Given the description of an element on the screen output the (x, y) to click on. 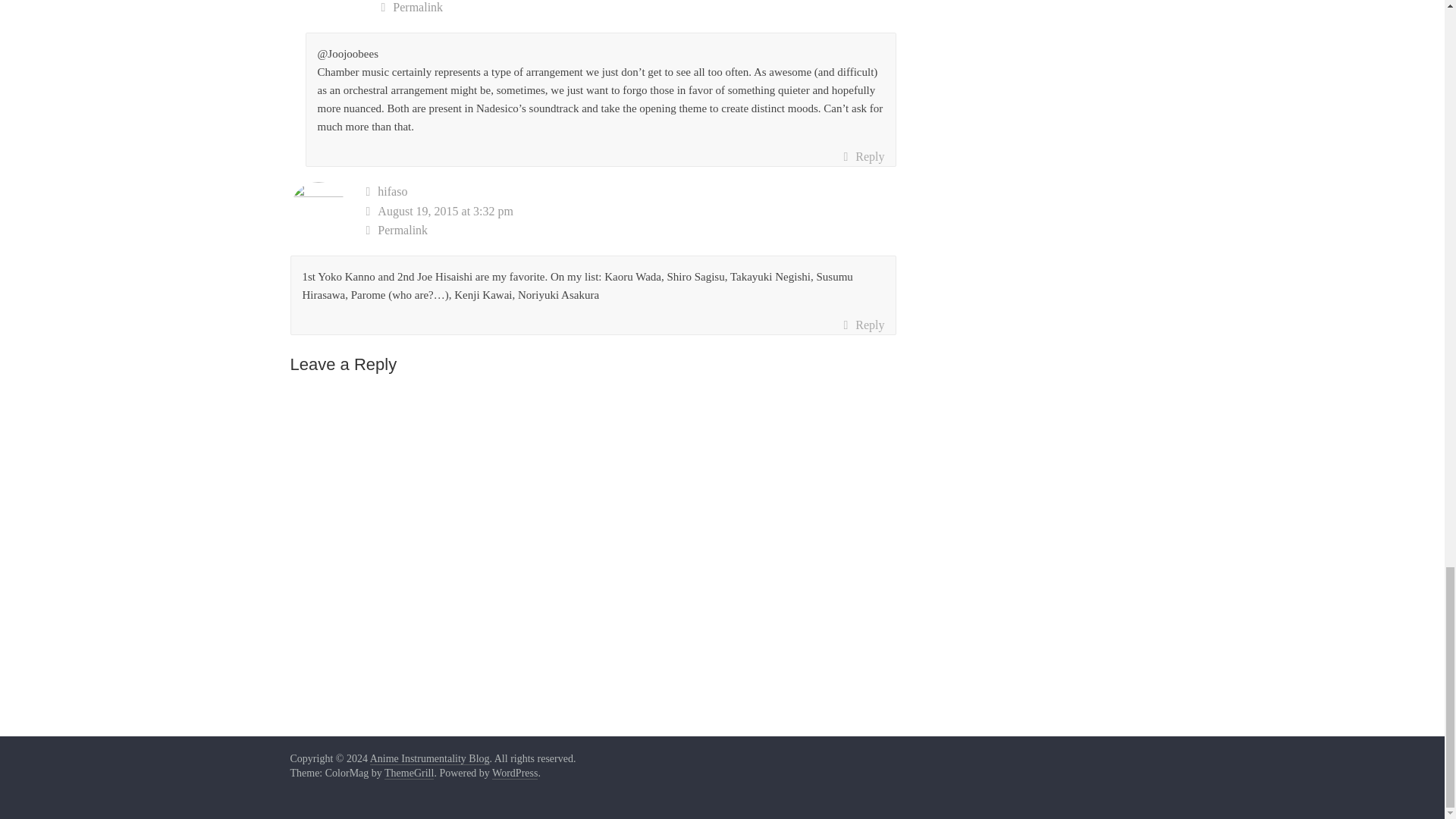
Permalink (638, 8)
Permalink (630, 230)
Reply (863, 324)
Reply (863, 157)
